Given the description of an element on the screen output the (x, y) to click on. 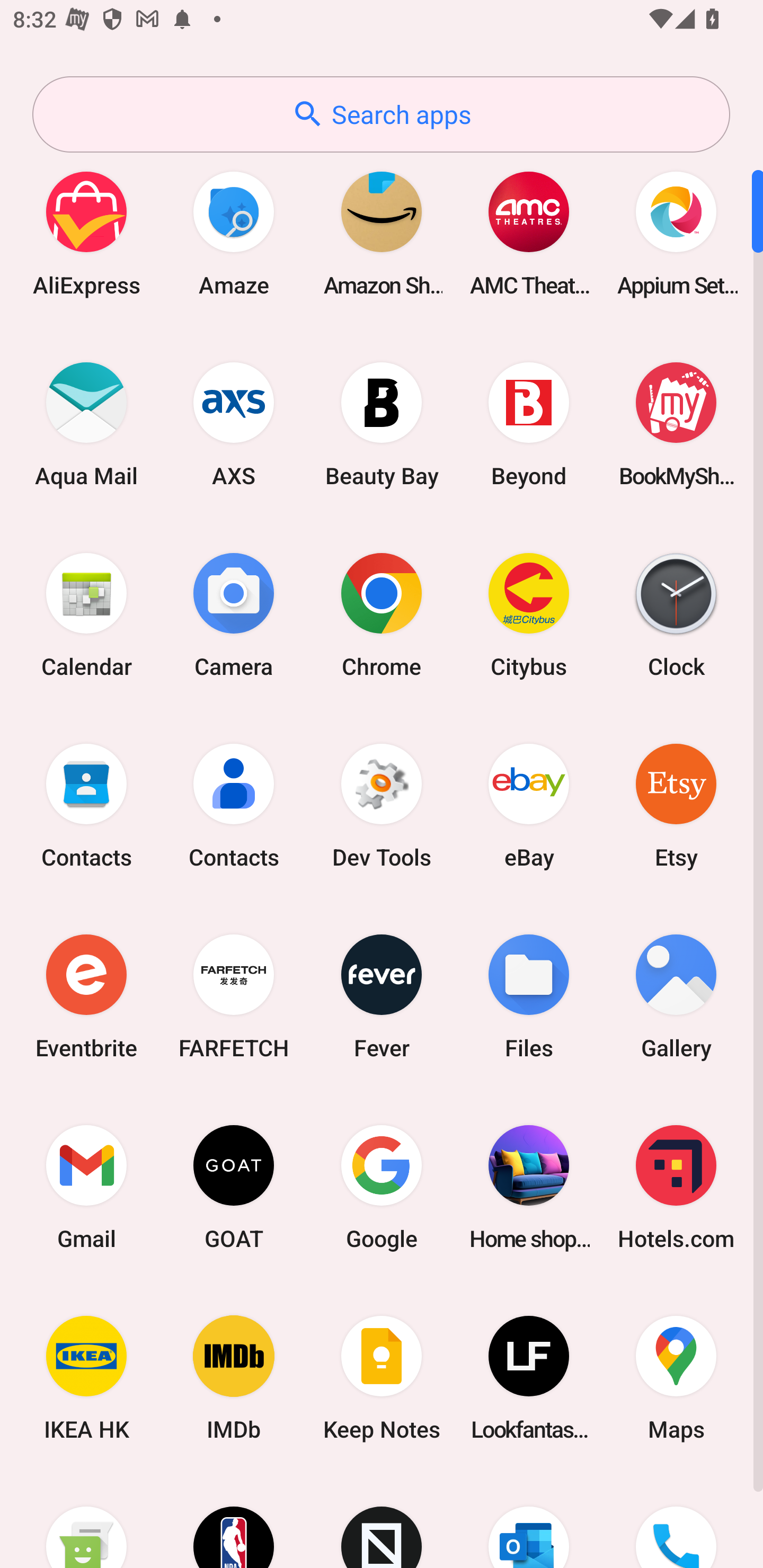
  Search apps (381, 114)
AliExpress (86, 233)
Amaze (233, 233)
Amazon Shopping (381, 233)
AMC Theatres (528, 233)
Appium Settings (676, 233)
Aqua Mail (86, 424)
AXS (233, 424)
Beauty Bay (381, 424)
Beyond (528, 424)
BookMyShow (676, 424)
Calendar (86, 614)
Camera (233, 614)
Chrome (381, 614)
Citybus (528, 614)
Clock (676, 614)
Contacts (86, 805)
Contacts (233, 805)
Dev Tools (381, 805)
eBay (528, 805)
Etsy (676, 805)
Eventbrite (86, 996)
FARFETCH (233, 996)
Fever (381, 996)
Files (528, 996)
Gallery (676, 996)
Gmail (86, 1186)
GOAT (233, 1186)
Google (381, 1186)
Home shopping (528, 1186)
Hotels.com (676, 1186)
IKEA HK (86, 1377)
IMDb (233, 1377)
Keep Notes (381, 1377)
Lookfantastic (528, 1377)
Maps (676, 1377)
